Given the description of an element on the screen output the (x, y) to click on. 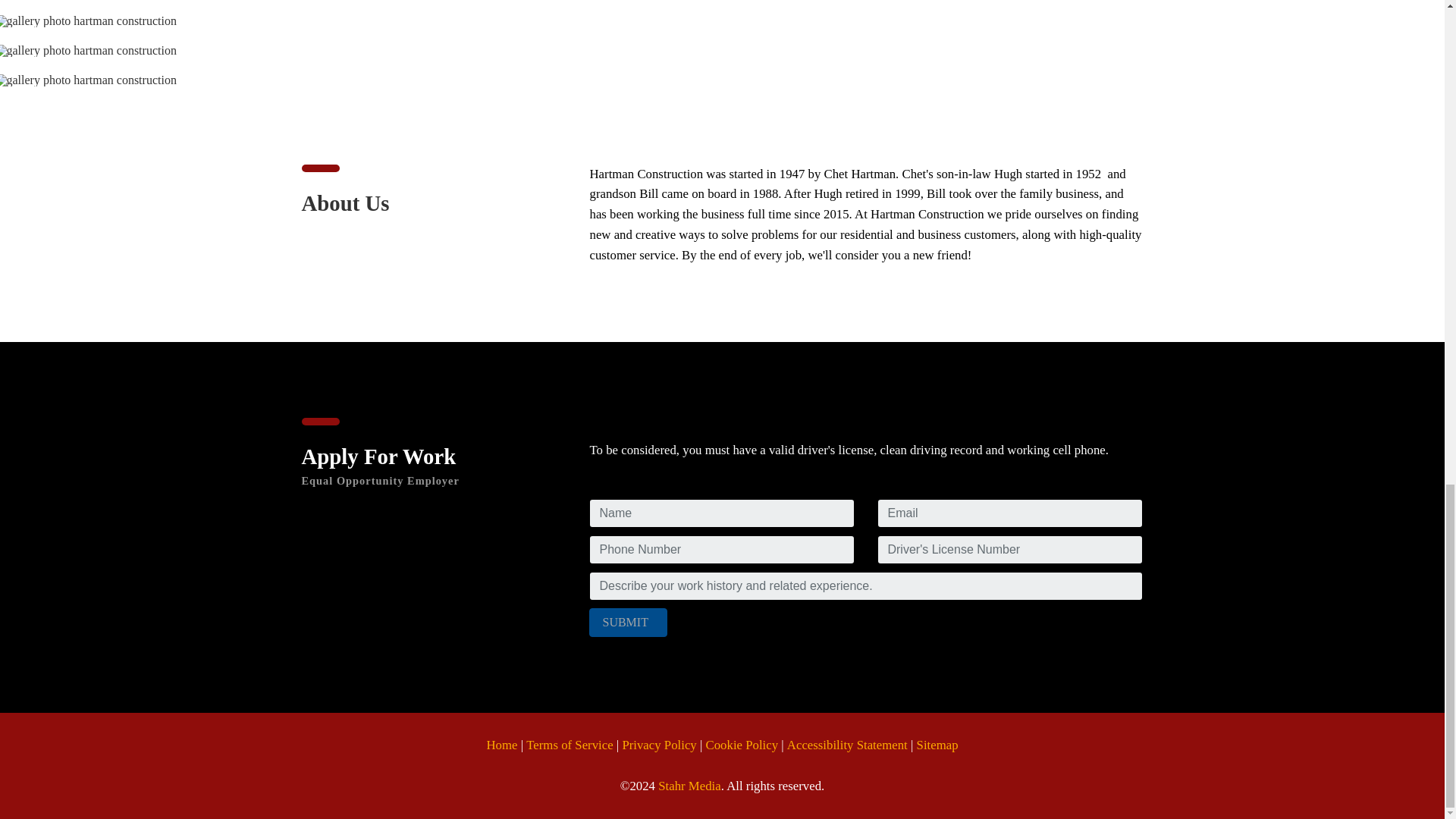
Terms of Service (568, 745)
Accessibility Statement (847, 745)
Privacy Policy (658, 745)
SUBMIT   (627, 622)
Stahr Media (689, 786)
Home (501, 745)
Cookie Policy (742, 745)
Sitemap (937, 745)
